Given the description of an element on the screen output the (x, y) to click on. 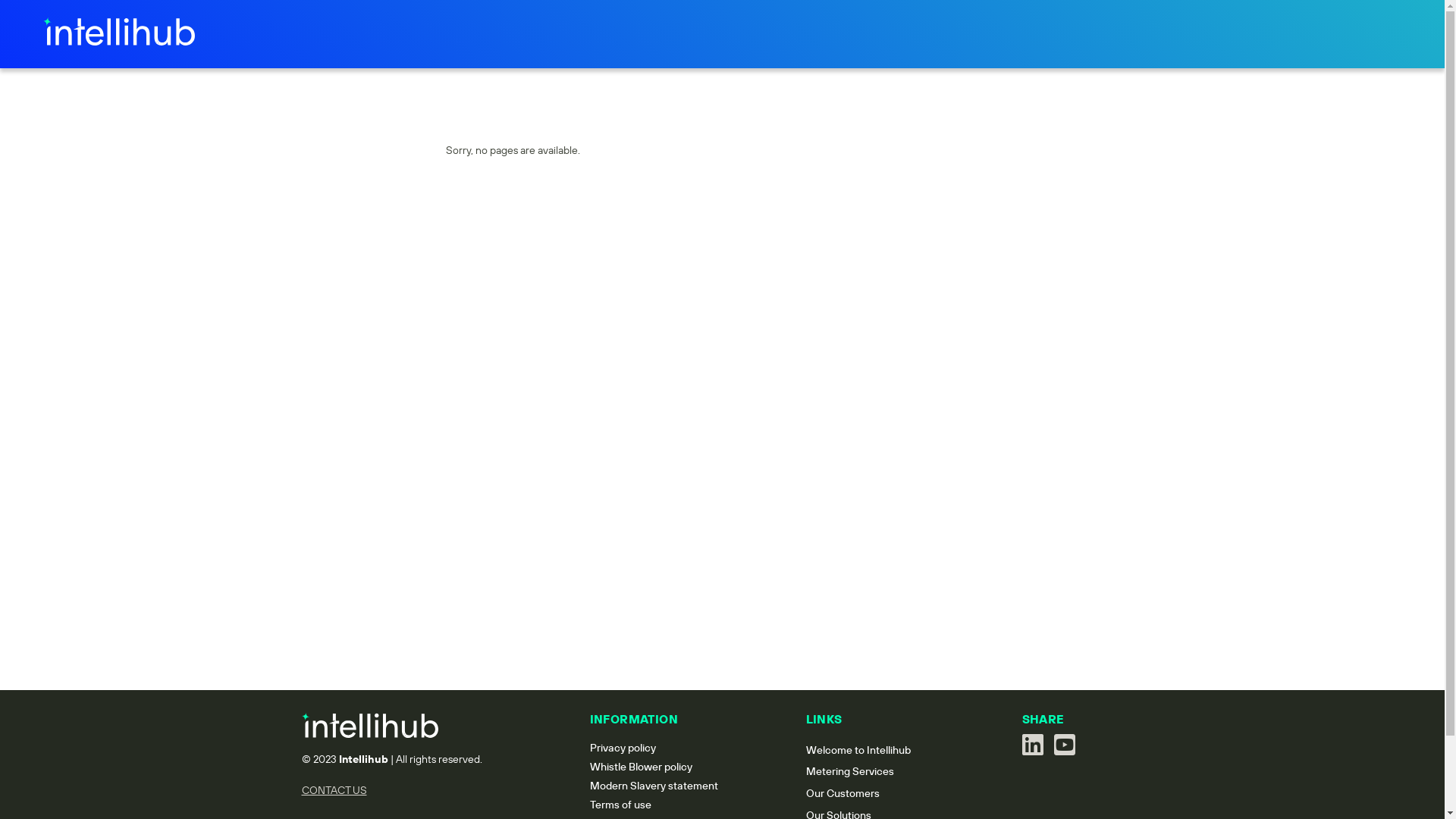
Share on linked in Element type: hover (1032, 744)
See us on youtube Element type: text (1064, 748)
Modern Slavery statement Element type: text (653, 785)
Terms of use Element type: text (620, 804)
CONTACT US Element type: text (334, 790)
Share on linkedin Element type: text (1034, 748)
See us on youtube Element type: hover (1064, 744)
Our Customers Element type: text (841, 793)
Welcome to Intellihub Element type: text (857, 749)
Privacy policy Element type: text (622, 747)
Metering Services Element type: text (849, 771)
Whistle Blower policy Element type: text (640, 766)
